Given the description of an element on the screen output the (x, y) to click on. 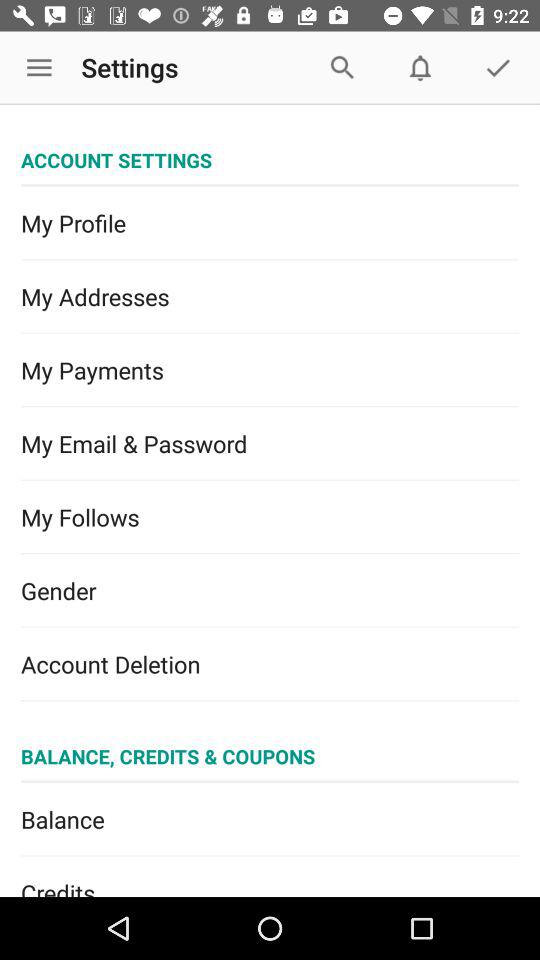
jump to the account deletion (270, 664)
